Given the description of an element on the screen output the (x, y) to click on. 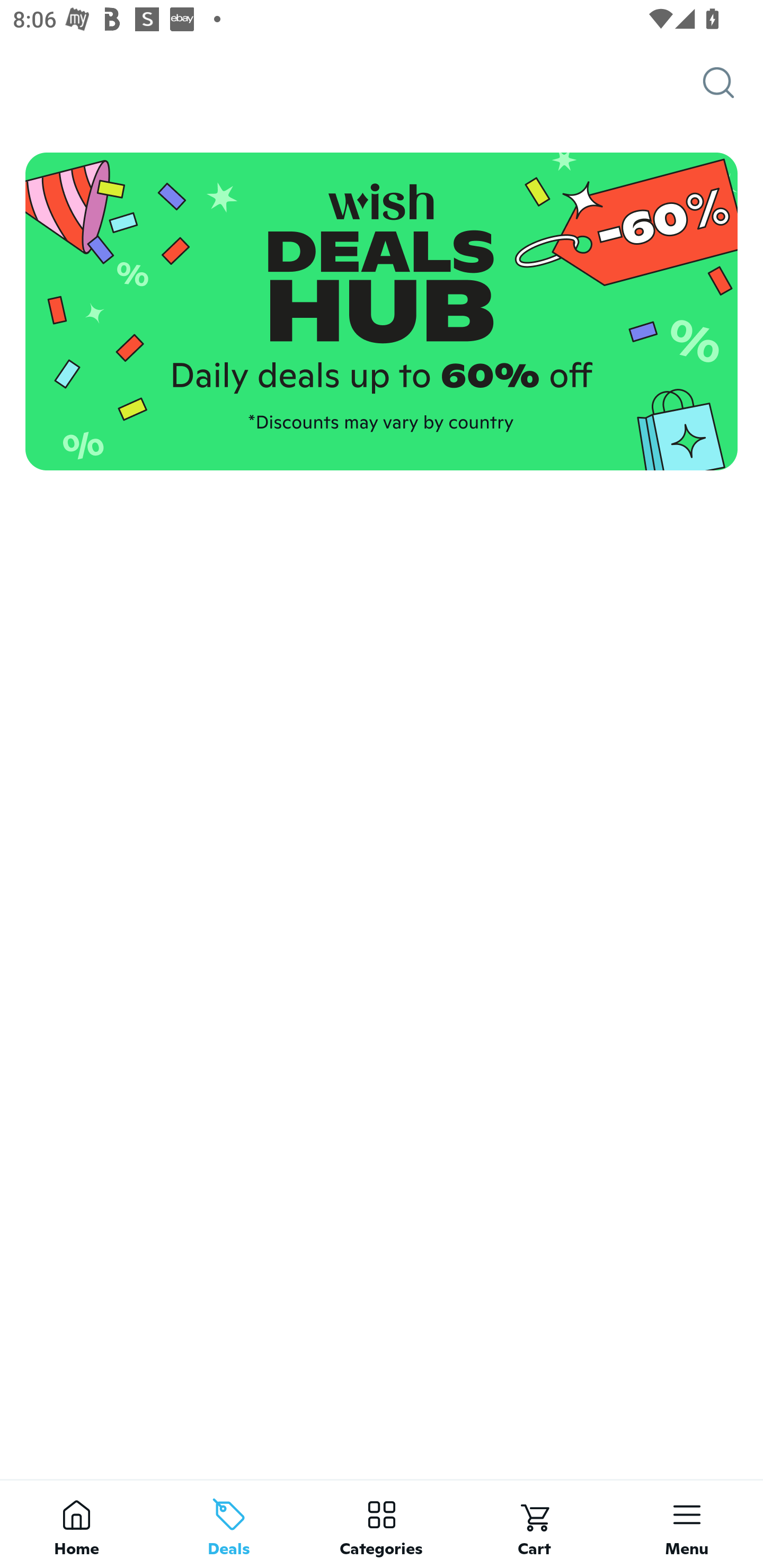
Search (732, 82)
Home (76, 1523)
Deals (228, 1523)
Categories (381, 1523)
Cart (533, 1523)
Menu (686, 1523)
